Given the description of an element on the screen output the (x, y) to click on. 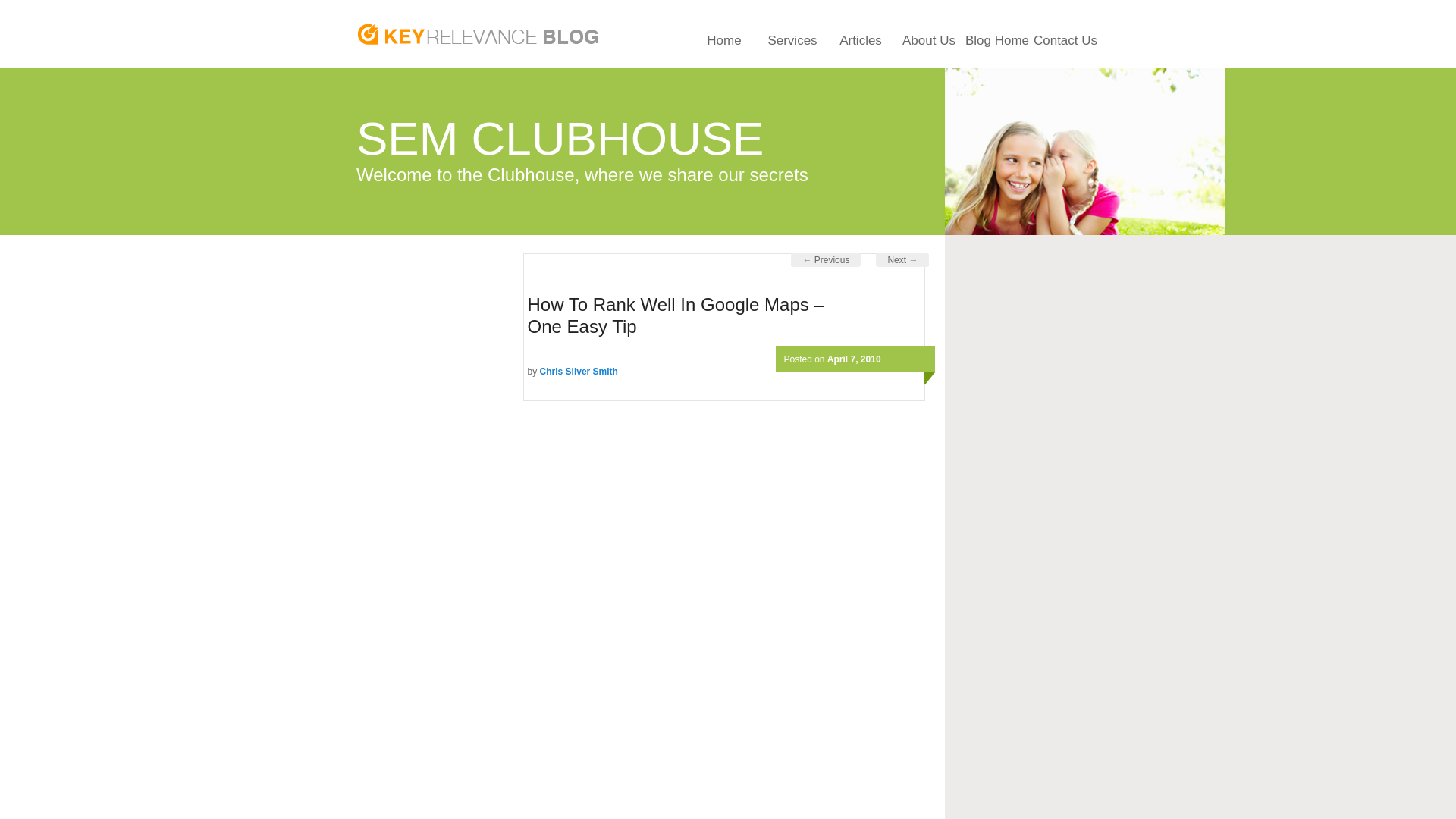
Skip to primary content (1080, 257)
SEM CLUBHOUSE (559, 138)
About Us (928, 30)
Blog Home (996, 30)
Articles (861, 30)
Chris Silver Smith (578, 371)
Skip to primary content (724, 30)
Contact Us (1064, 30)
View all posts by Chris Silver Smith (578, 371)
